Given the description of an element on the screen output the (x, y) to click on. 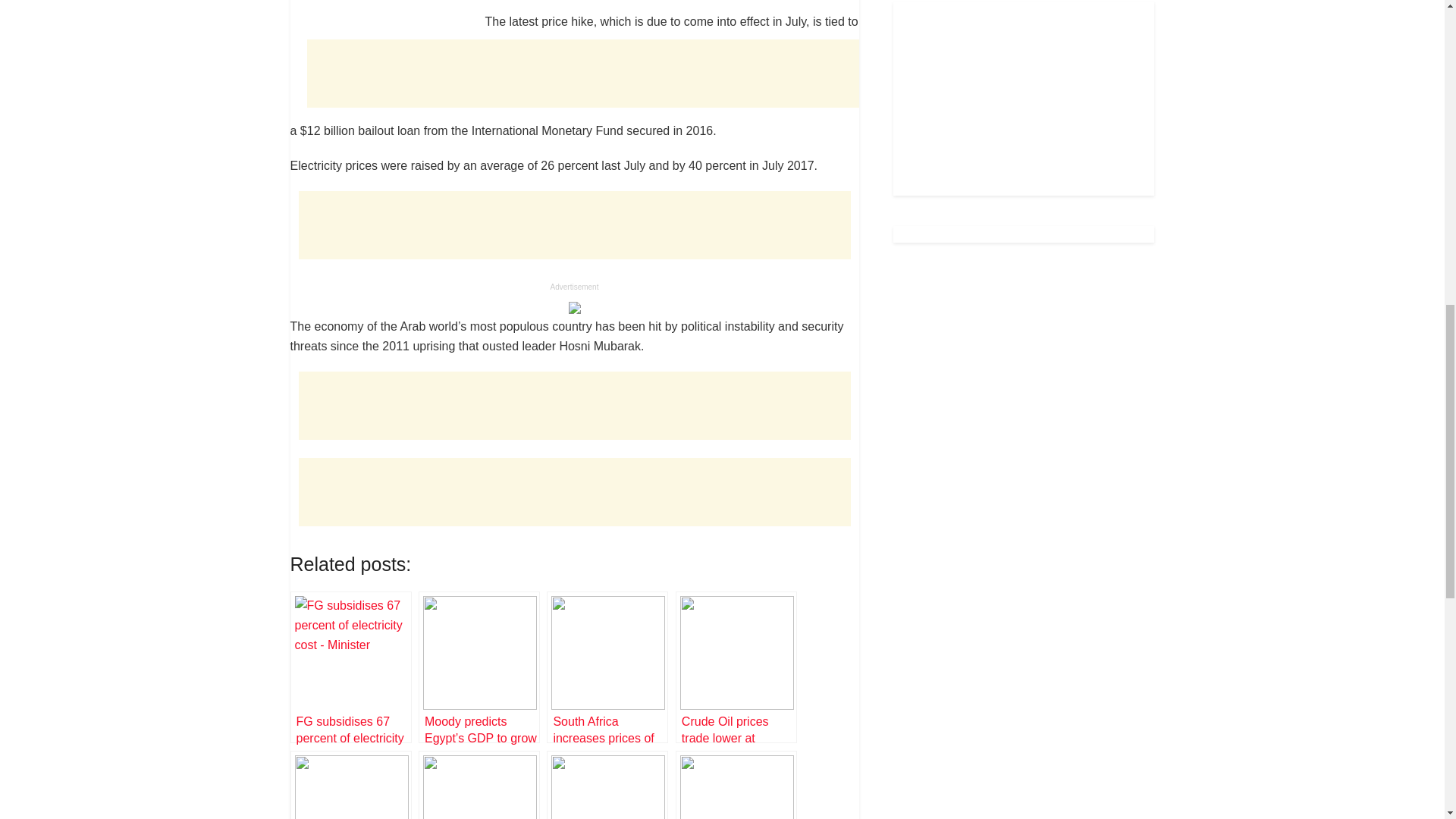
Group calls for reversal of prices of fuel, electricity (479, 785)
FG increases electricity tariffs (349, 785)
